Given the description of an element on the screen output the (x, y) to click on. 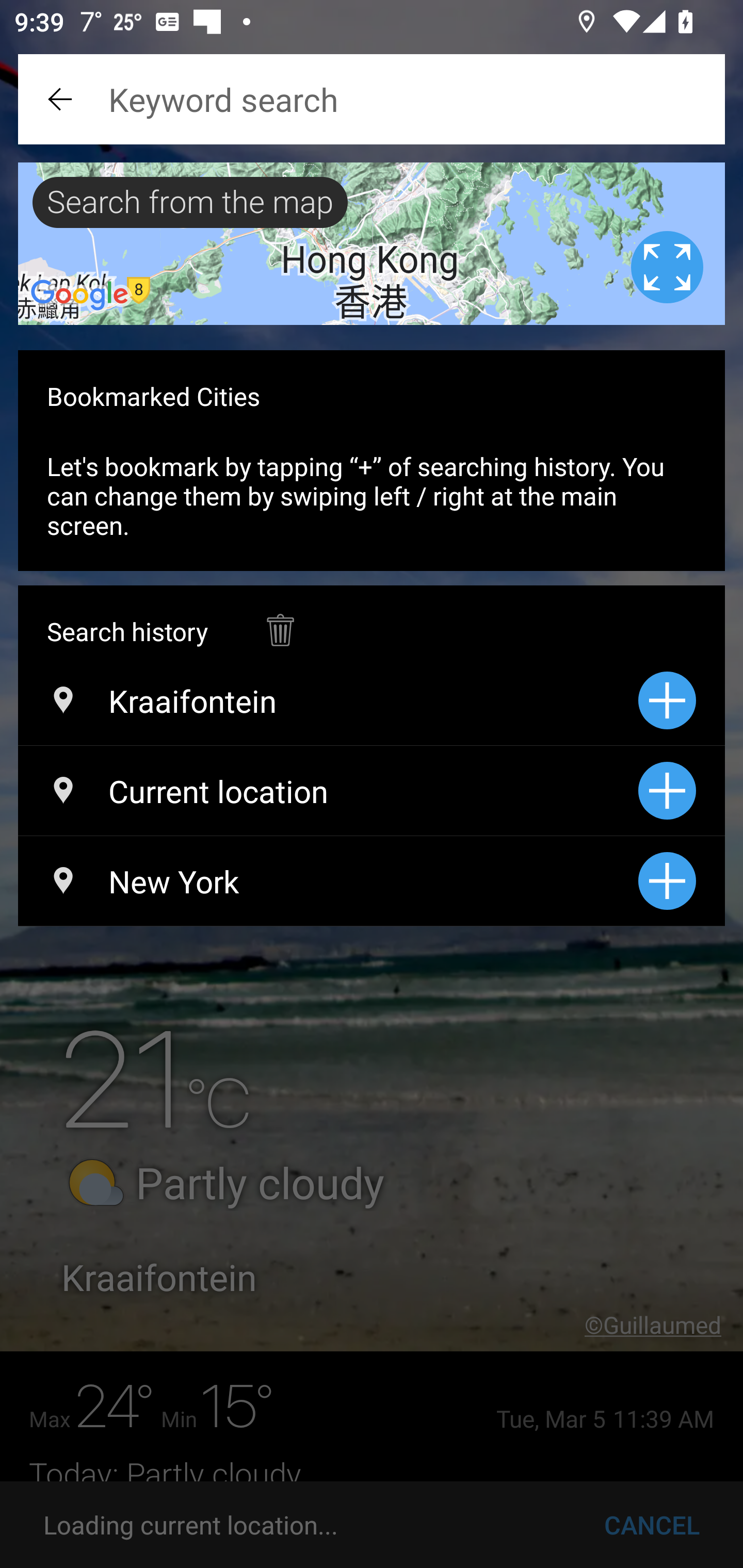
Keyword search (371, 99)
 (61, 99)
 (280, 619)
 Kraaifontein (327, 700)
 Current location (327, 790)
 New York (327, 880)
